Given the description of an element on the screen output the (x, y) to click on. 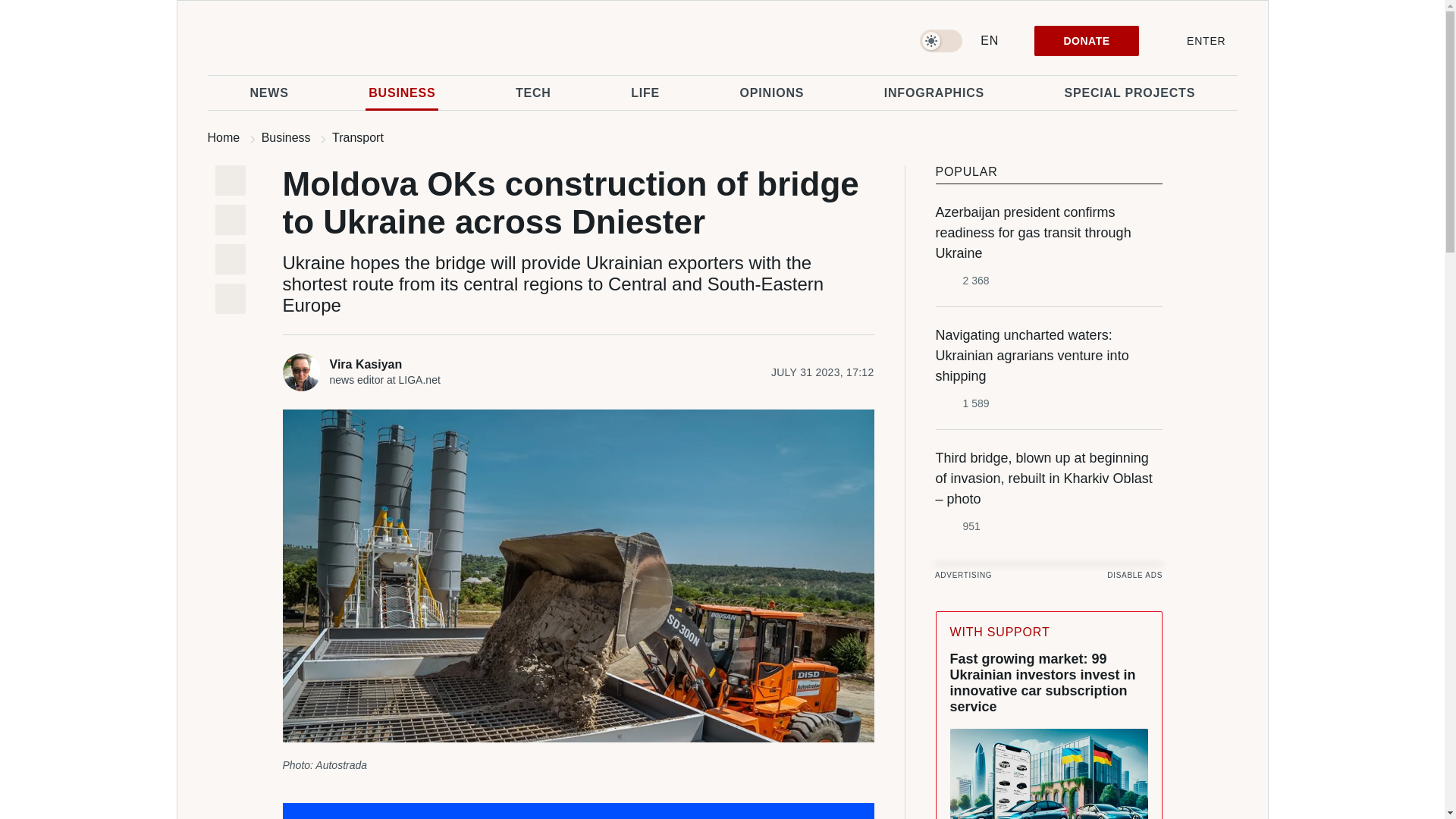
DONATE (1085, 40)
INFOGRAPHICS (933, 93)
Transport (357, 137)
Home (224, 137)
LIFE (644, 93)
Vira Kasiyan (393, 364)
Fuel Ukrainian journalists with a cup of coffee (577, 811)
OPINIONS (772, 93)
BUSINESS (401, 93)
Business (286, 137)
DISABLE ADS (1133, 575)
